Given the description of an element on the screen output the (x, y) to click on. 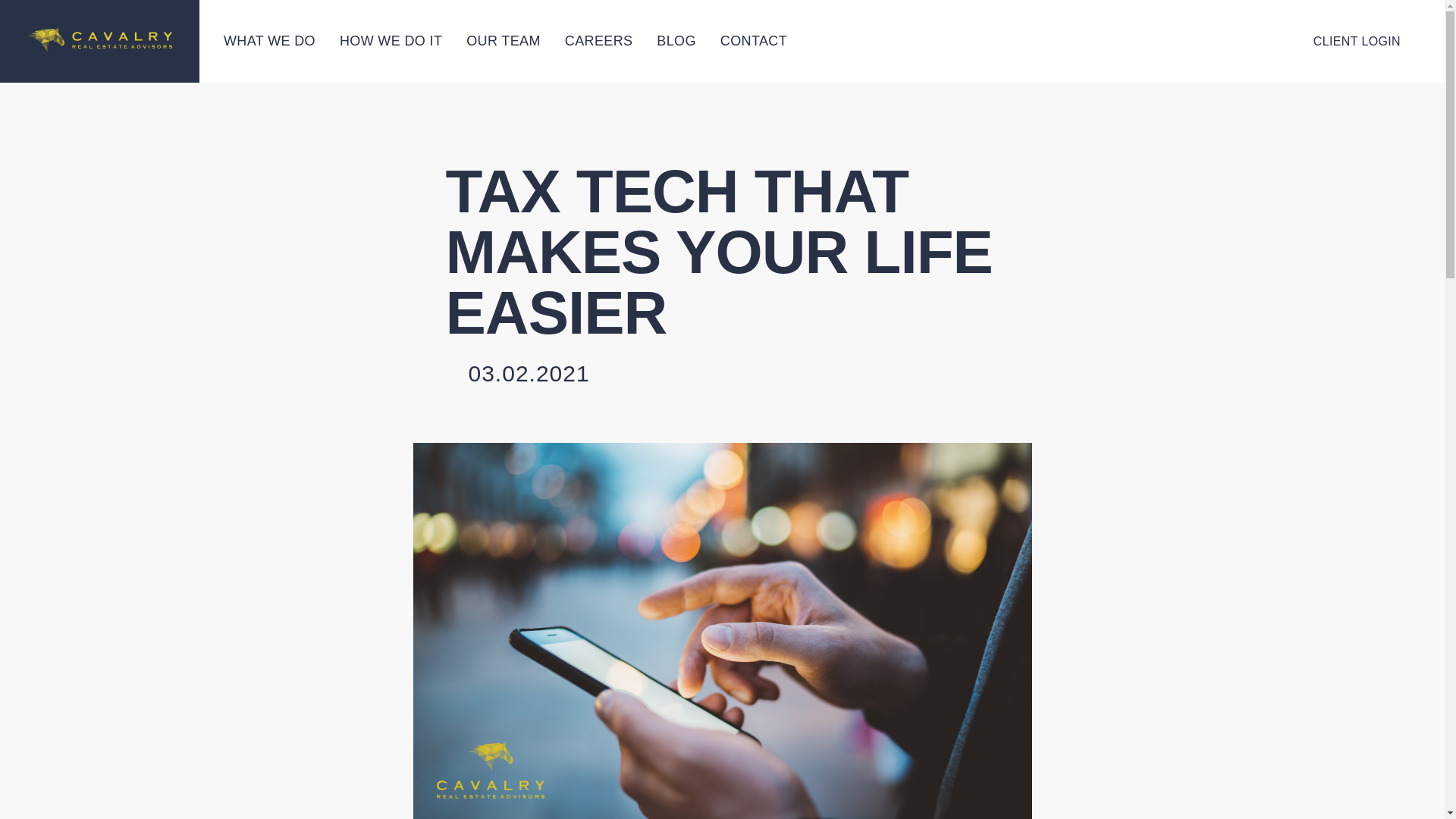
WHAT WE DO (269, 40)
HOW WE DO IT (390, 40)
CONTACT (753, 40)
OUR TEAM (502, 40)
CAREERS (598, 40)
CLIENT LOGIN (1356, 41)
BLOG (675, 40)
